Given the description of an element on the screen output the (x, y) to click on. 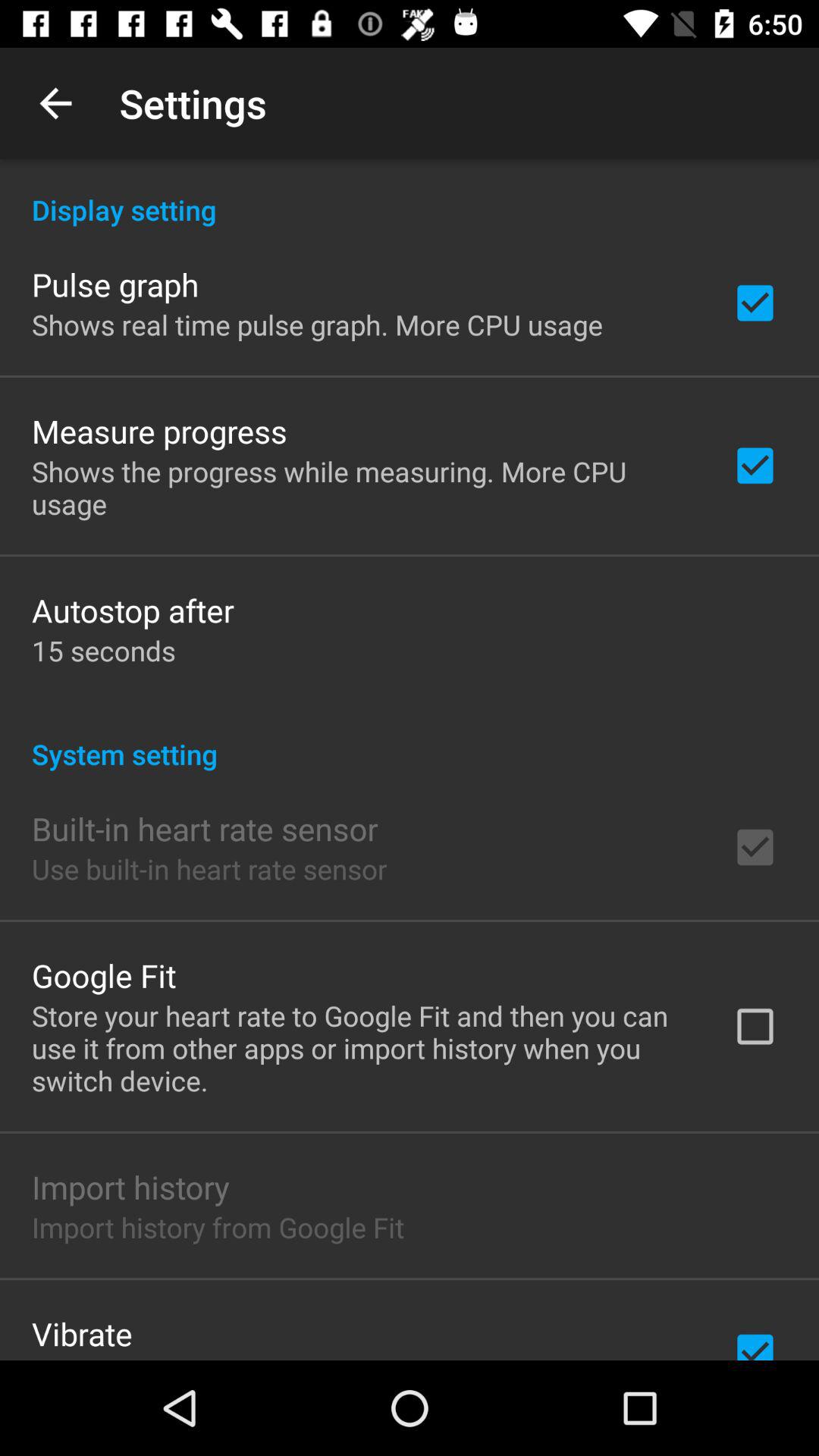
jump to the display setting icon (409, 193)
